Given the description of an element on the screen output the (x, y) to click on. 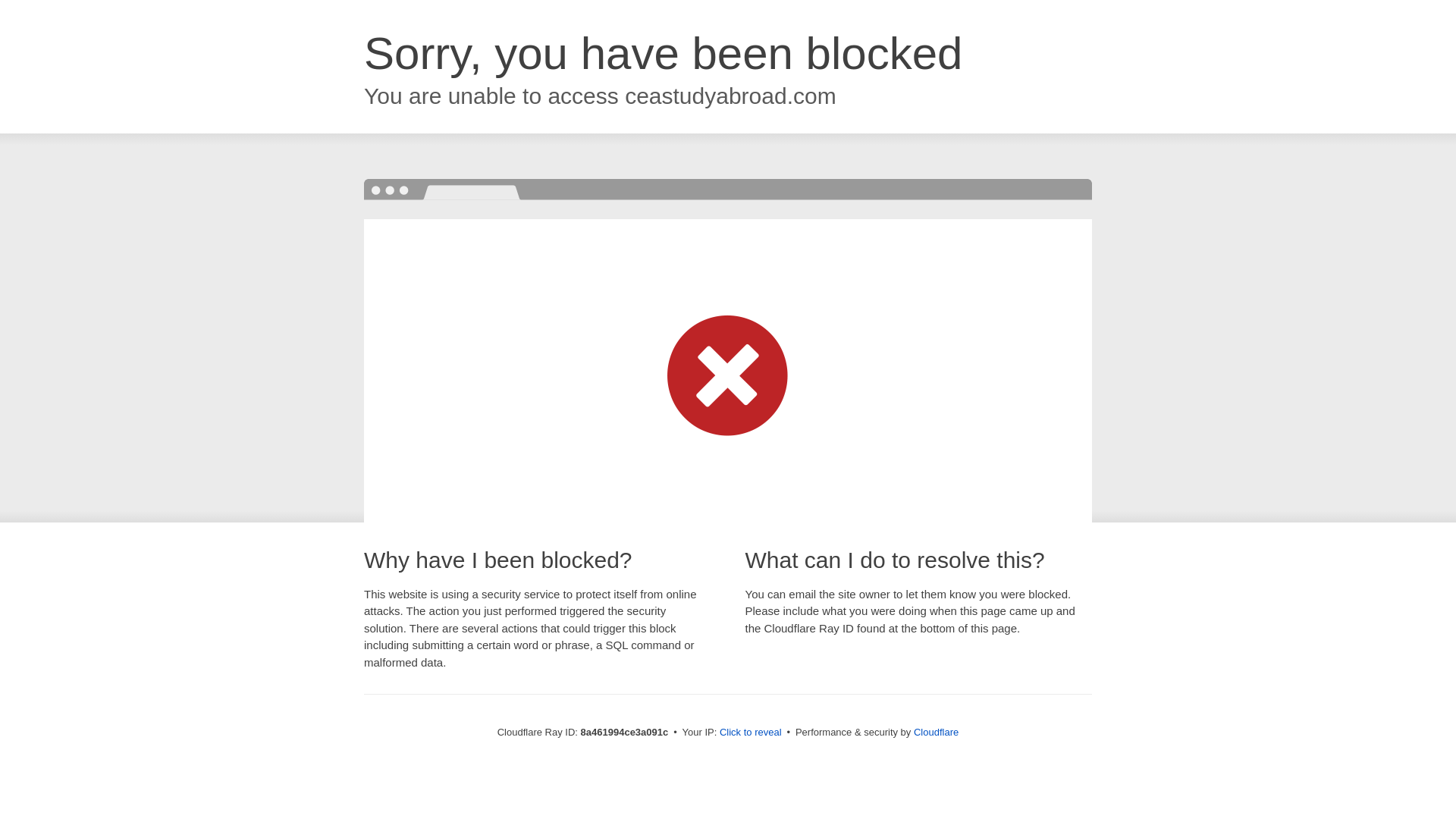
Cloudflare (936, 731)
Click to reveal (750, 732)
